Given the description of an element on the screen output the (x, y) to click on. 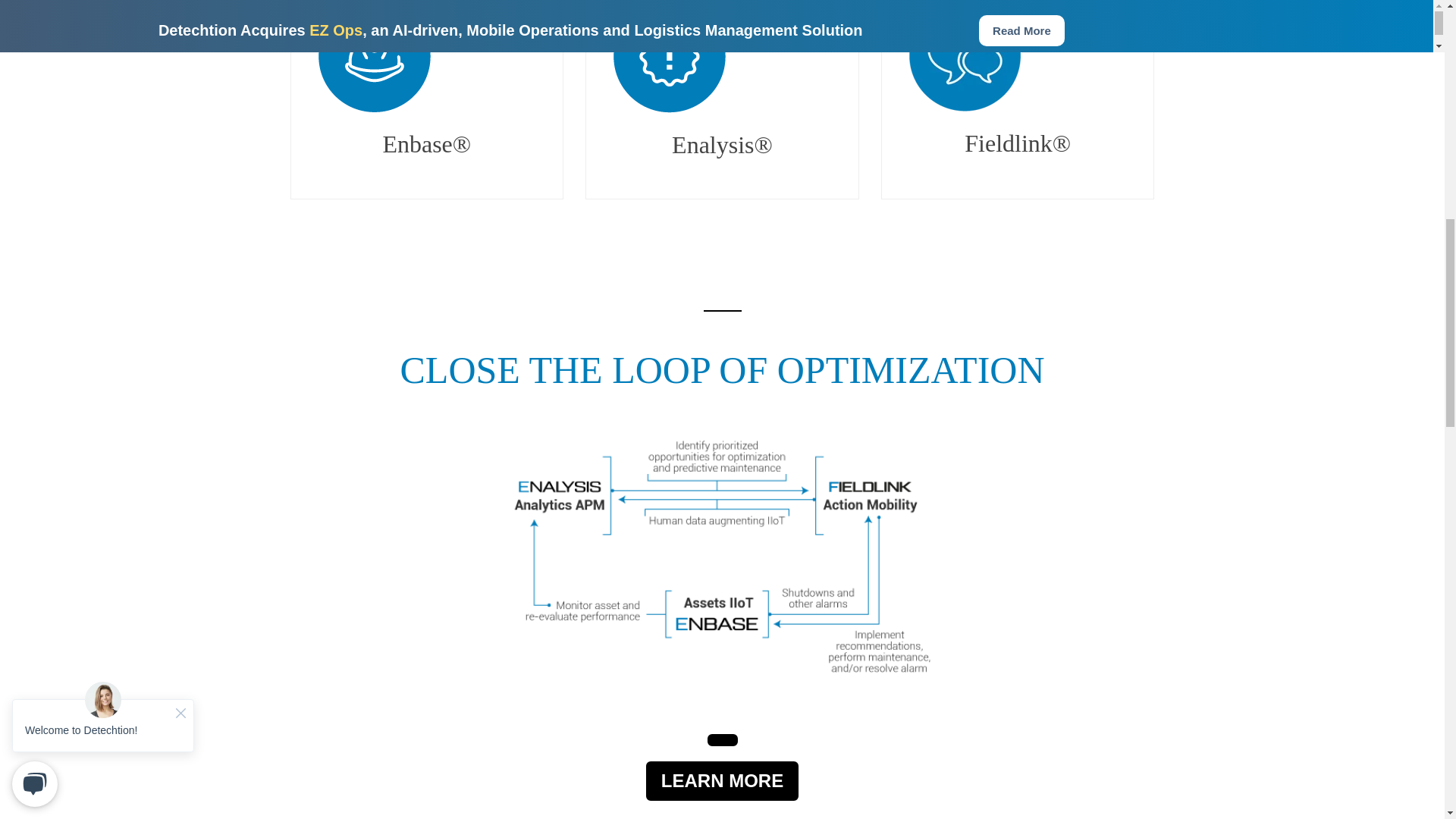
LEARN MORE (721, 739)
LEARN MORE (721, 780)
